Given the description of an element on the screen output the (x, y) to click on. 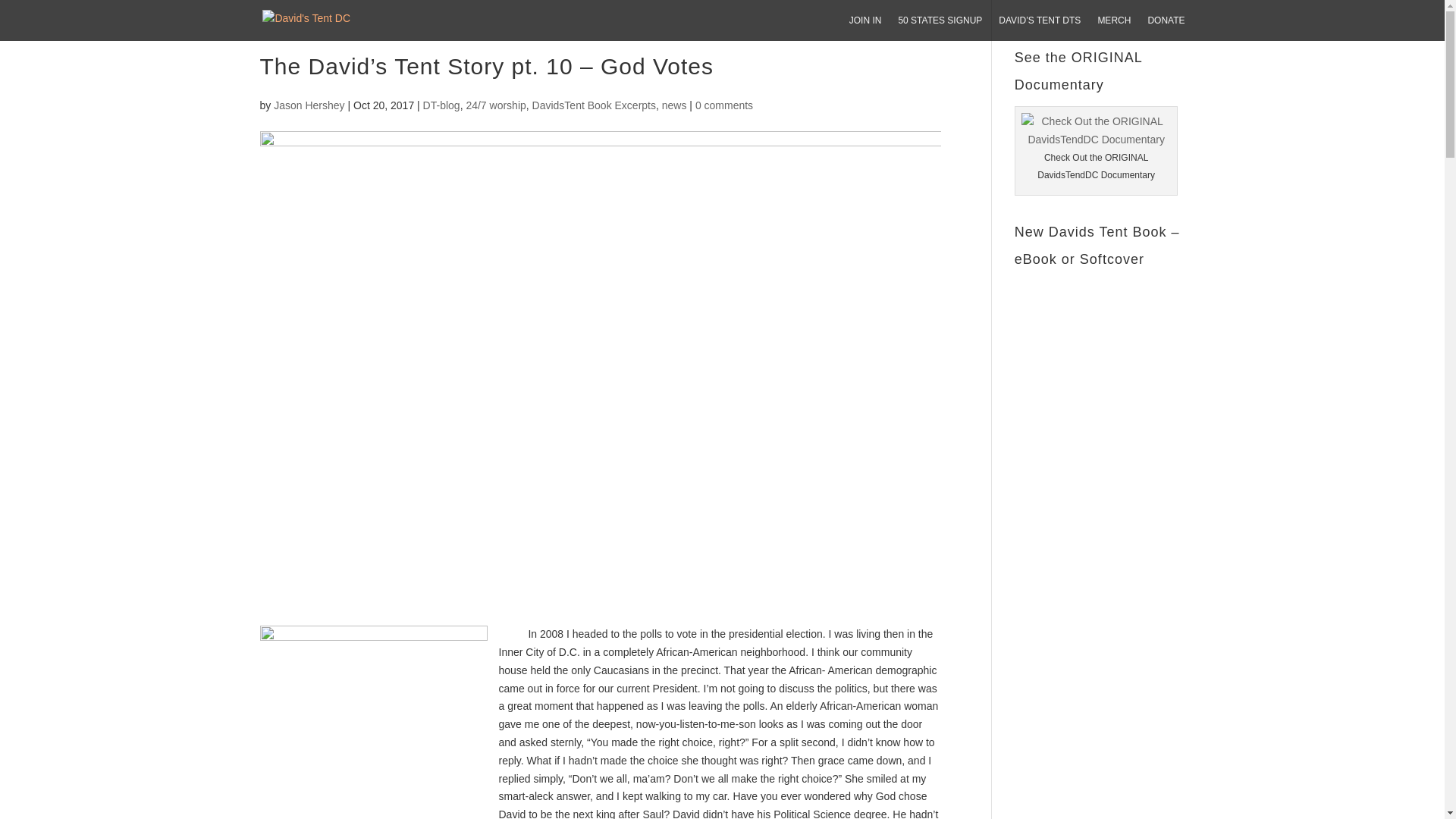
DT-blog (441, 105)
DONATE (1166, 27)
MERCH (1114, 27)
news (674, 105)
Posts by Jason Hershey (308, 105)
DavidsTent Book Excerpts (594, 105)
50 STATES SIGNUP (939, 27)
JOIN IN (865, 27)
0 comments (723, 105)
Jason Hershey (308, 105)
